Given the description of an element on the screen output the (x, y) to click on. 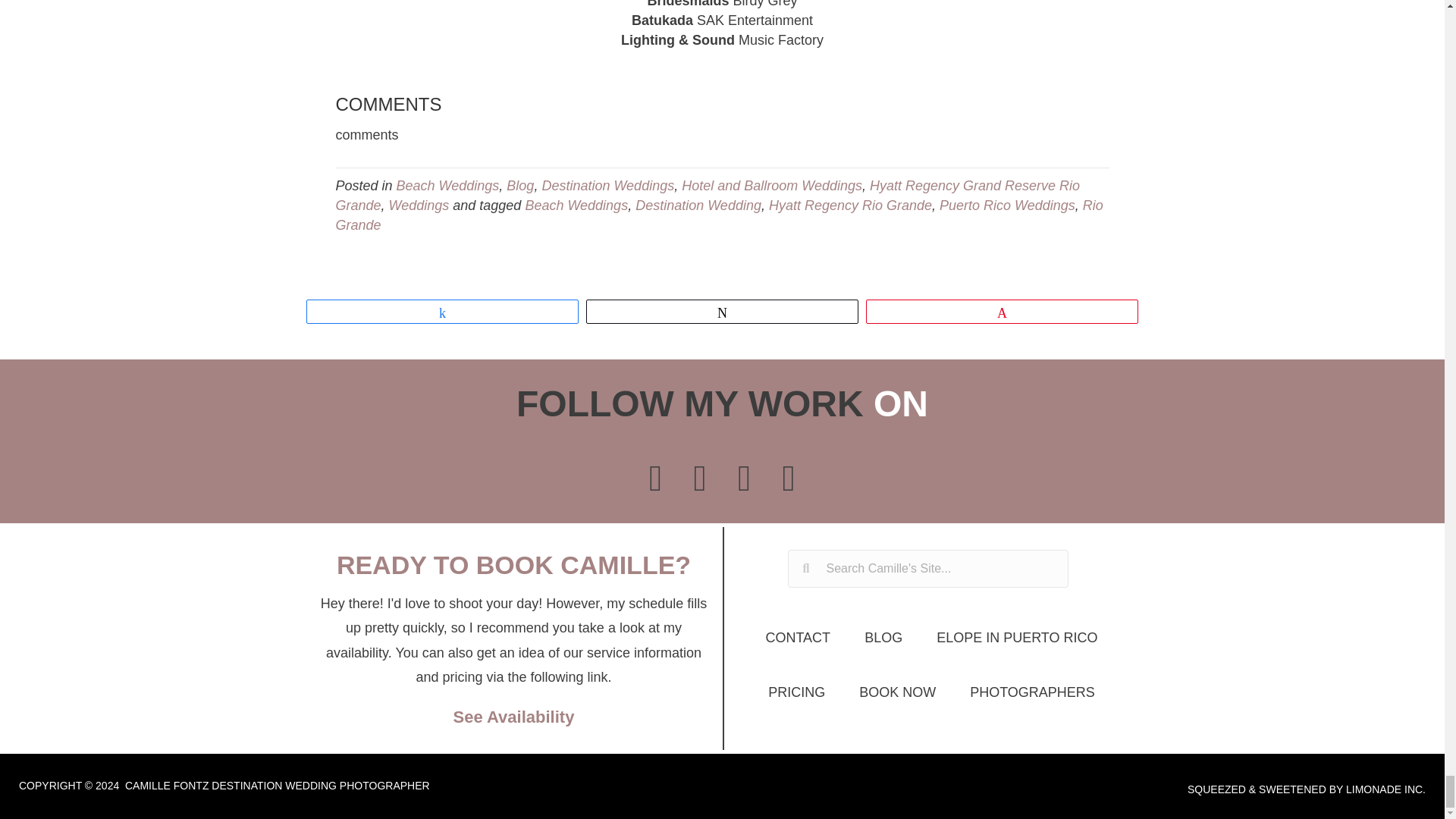
SWEETENED BY LIMONADE INC. (1342, 788)
Weddings (418, 205)
Hyatt Regency Grand Reserve Rio Grande (707, 195)
PHOTOGRAPHERS (1032, 692)
Hyatt Regency Rio Grande (849, 205)
Destination Wedding (697, 205)
Rio Grande (718, 215)
BLOG (883, 637)
BOOK NOW (897, 692)
Beach Weddings (575, 205)
